Given the description of an element on the screen output the (x, y) to click on. 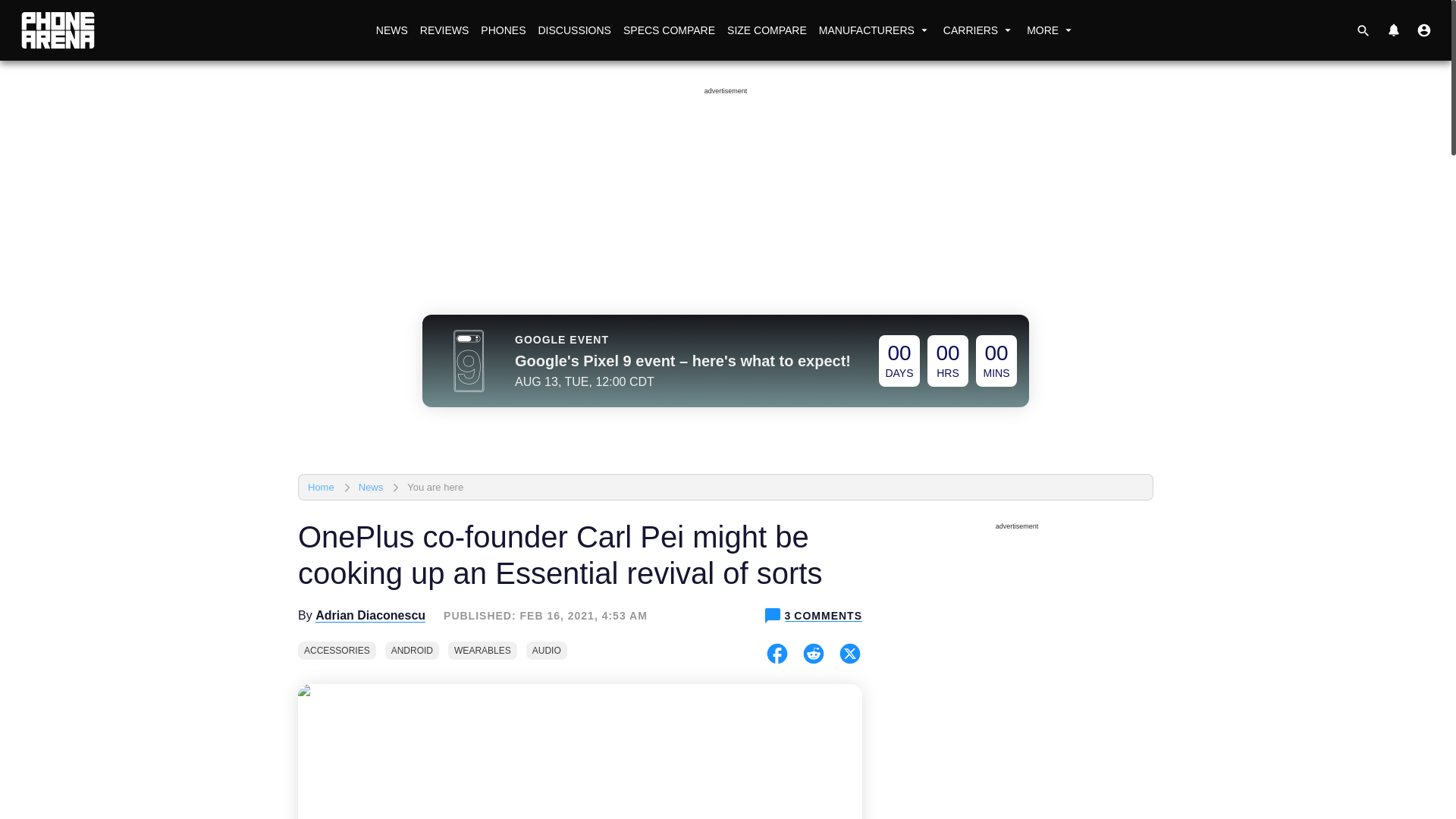
PHONES (502, 30)
SIZE COMPARE (766, 30)
DISCUSSIONS (573, 30)
SPECS COMPARE (668, 30)
CARRIERS (978, 30)
REVIEWS (444, 30)
MANUFACTURERS (874, 30)
MORE (1050, 30)
NEWS (391, 30)
